Given the description of an element on the screen output the (x, y) to click on. 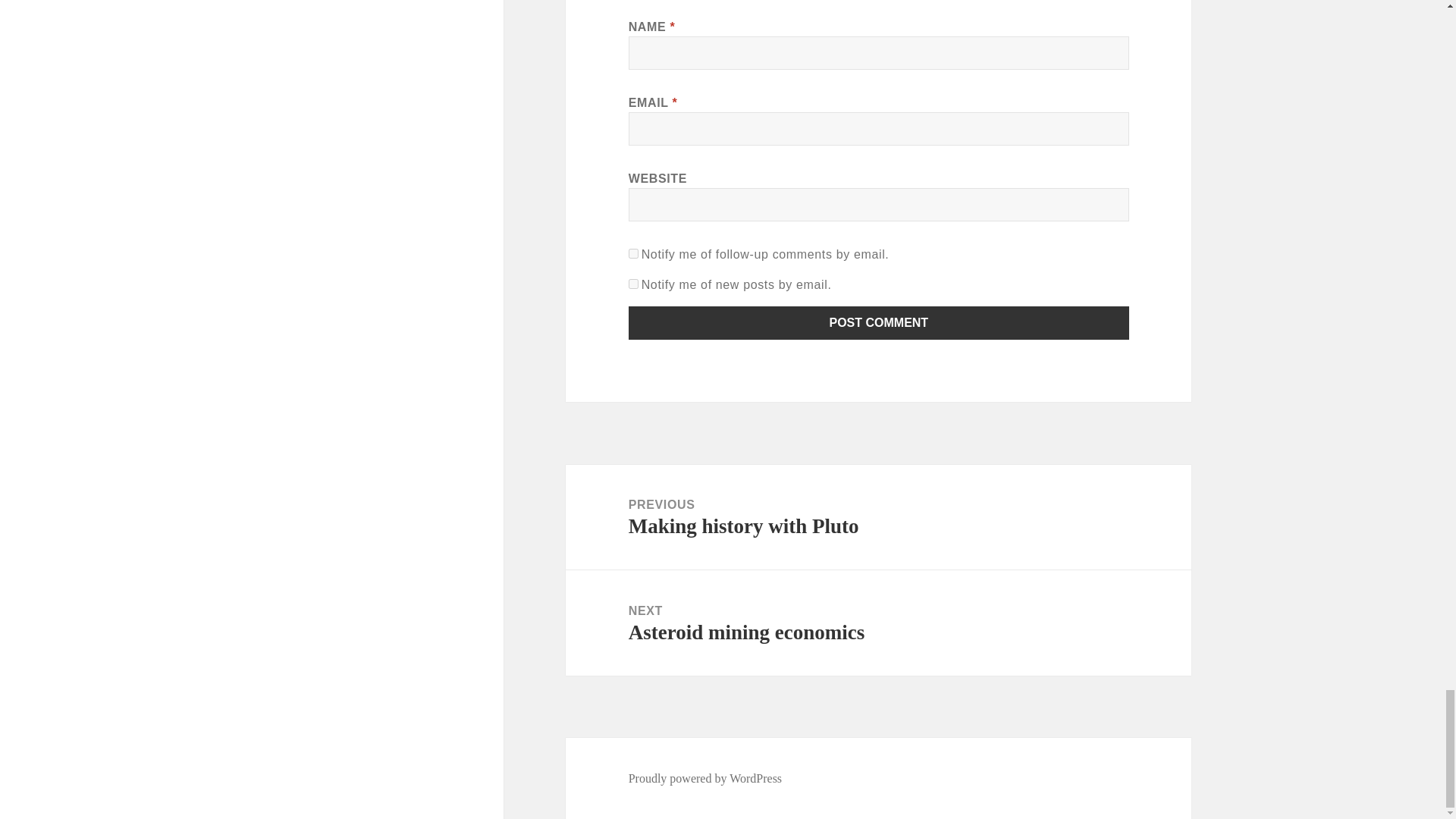
subscribe (633, 253)
subscribe (633, 284)
Post Comment (878, 322)
